Given the description of an element on the screen output the (x, y) to click on. 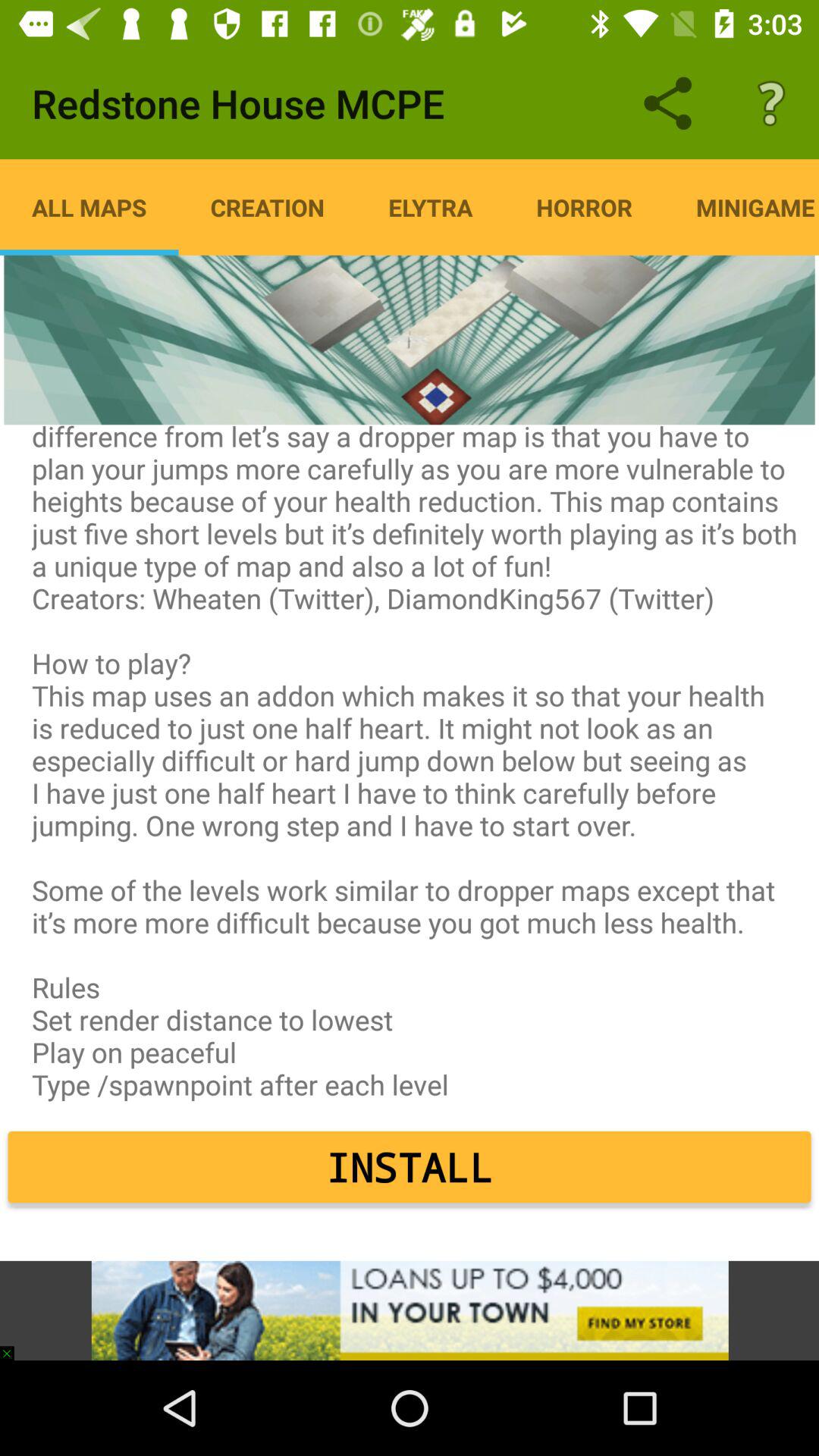
go to advertising partner (409, 1310)
